Given the description of an element on the screen output the (x, y) to click on. 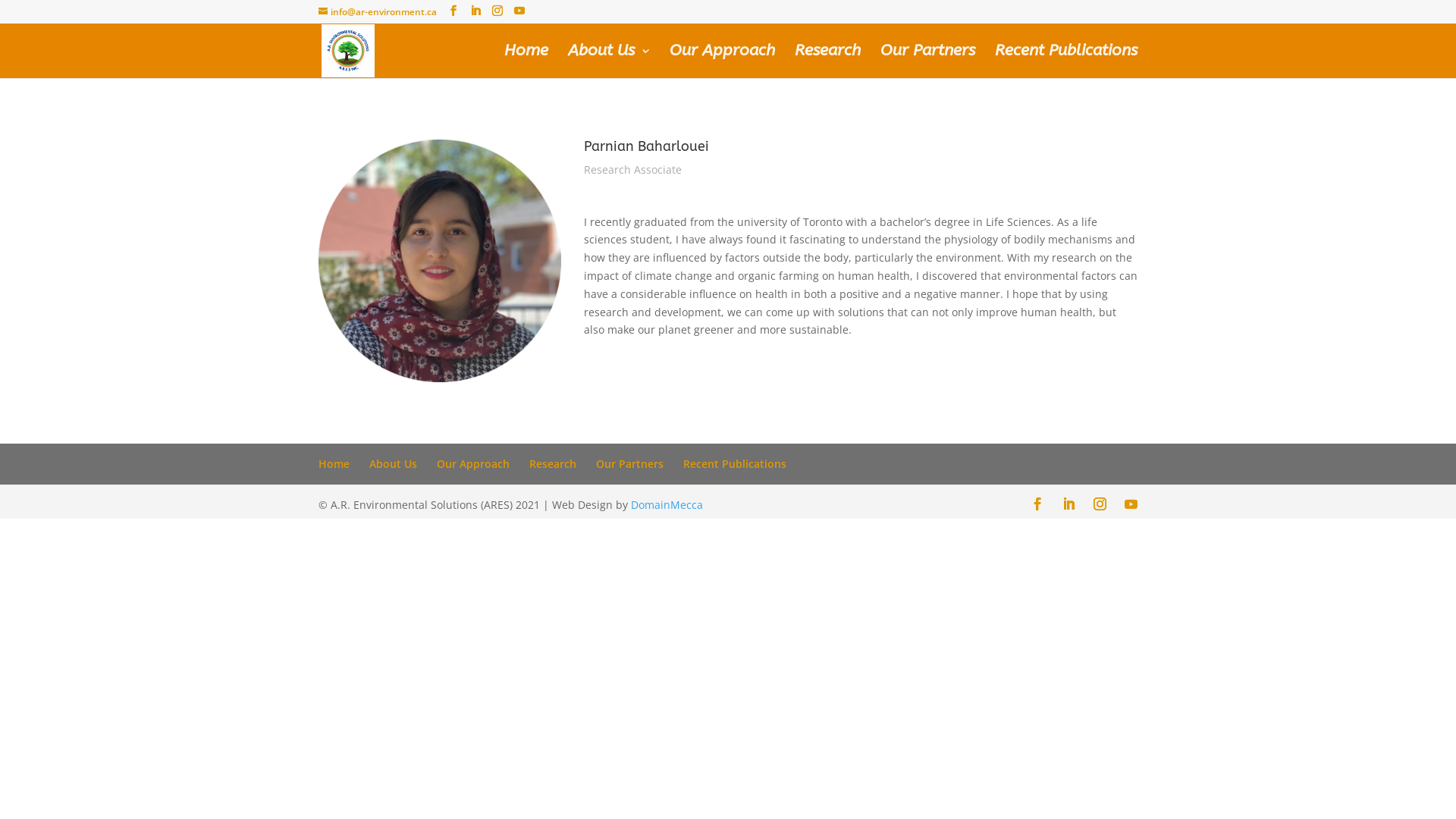
DomainMecca Element type: text (666, 504)
Research Element type: text (827, 61)
info@ar-environment.ca Element type: text (377, 11)
Research Element type: text (552, 463)
Home Element type: text (333, 463)
Our Partners Element type: text (629, 463)
Our Approach Element type: text (472, 463)
About Us Element type: text (608, 61)
Home Element type: text (526, 61)
About Us Element type: text (393, 463)
Our Partners Element type: text (927, 61)
Our Approach Element type: text (722, 61)
Recent Publications Element type: text (734, 463)
Recent Publications Element type: text (1065, 61)
